Given the description of an element on the screen output the (x, y) to click on. 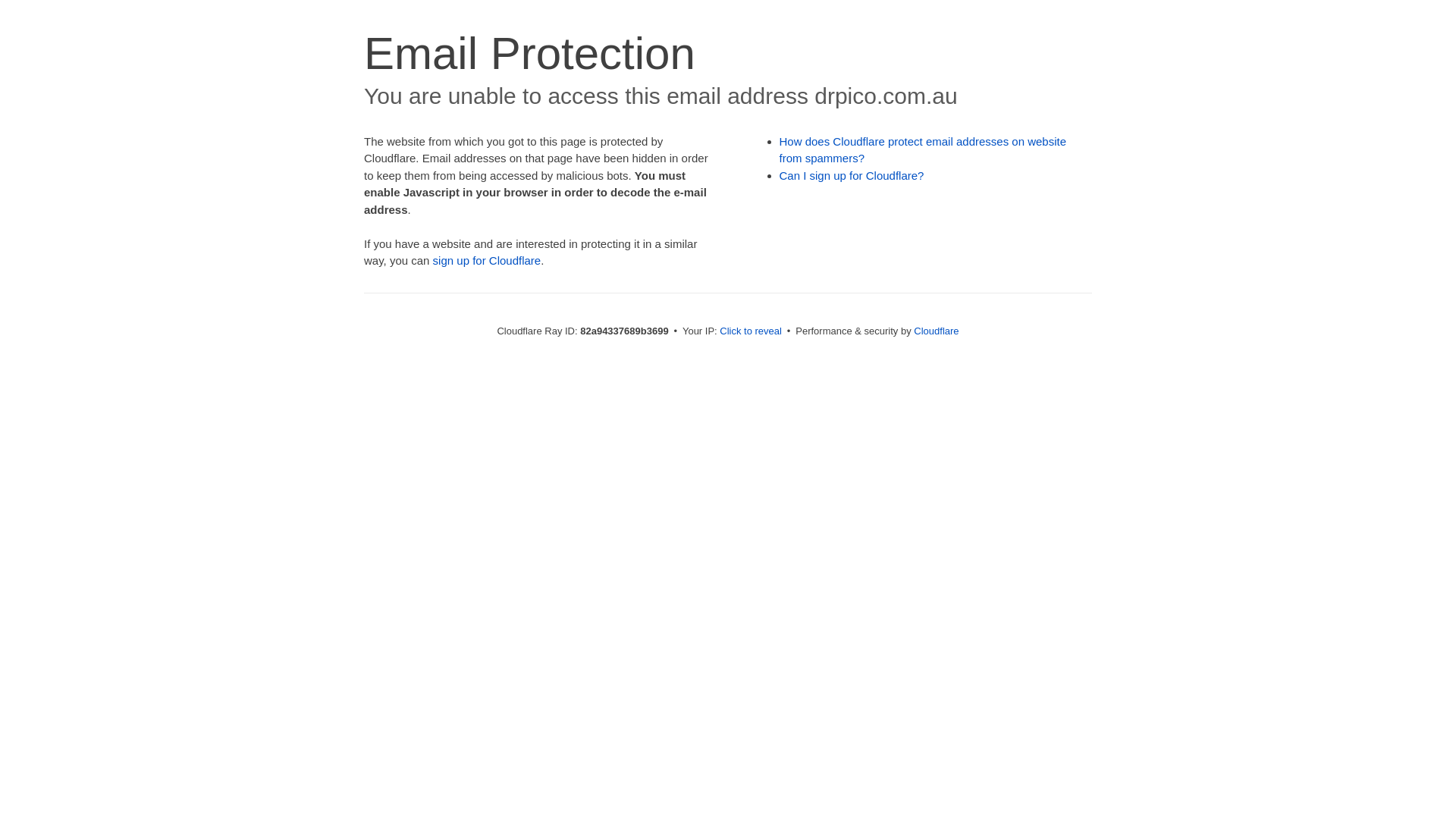
Click to reveal Element type: text (750, 330)
Cloudflare Element type: text (935, 330)
Can I sign up for Cloudflare? Element type: text (851, 175)
sign up for Cloudflare Element type: text (487, 260)
